Given the description of an element on the screen output the (x, y) to click on. 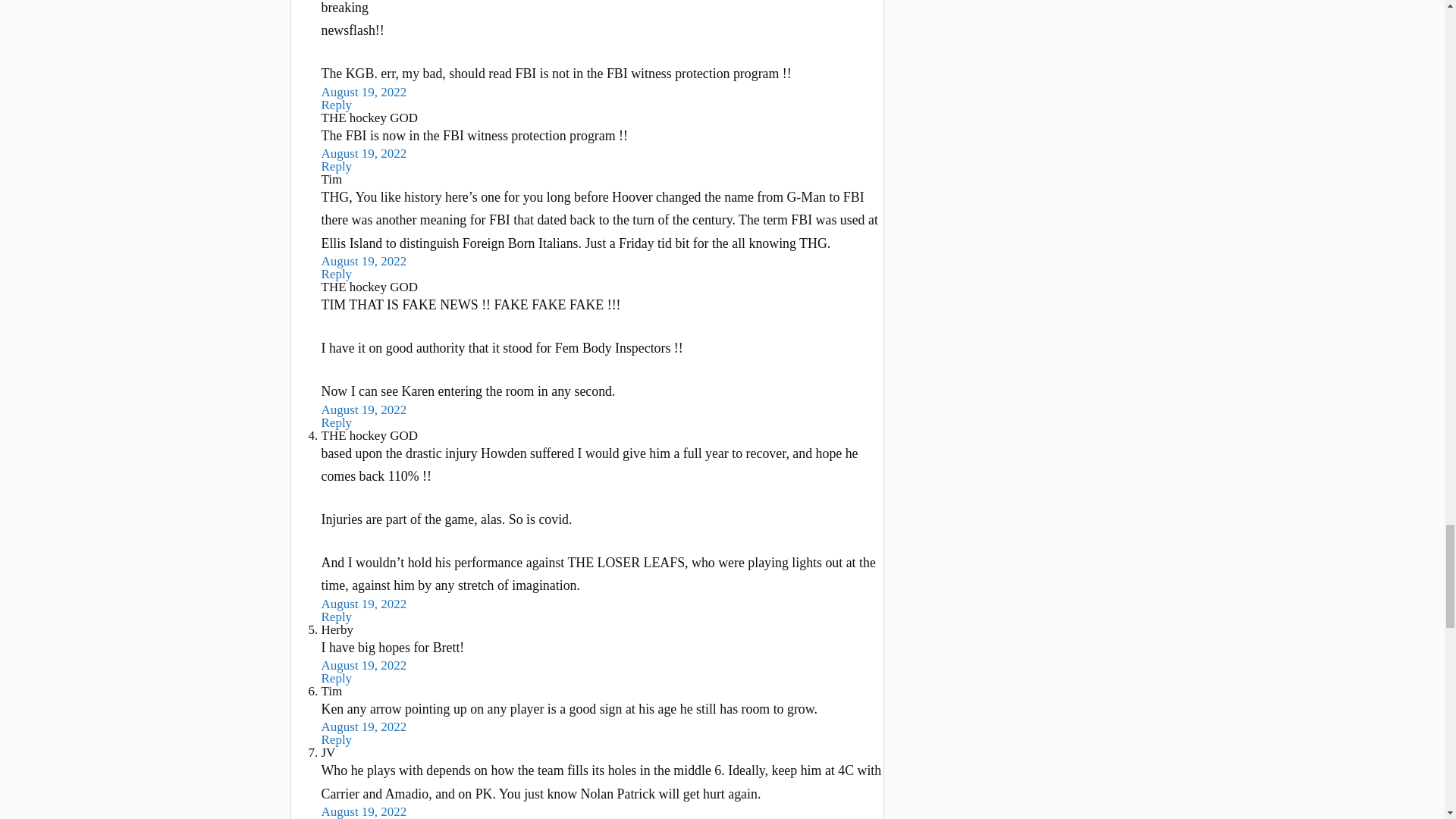
August 19, 2022 at 2:15 PM (364, 409)
August 19, 2022 at 12:31 PM (364, 665)
August 19, 2022 at 1:28 PM (364, 260)
August 19, 2022 at 11:55 AM (364, 603)
August 19, 2022 at 11:54 AM (364, 92)
August 19, 2022 at 1:01 PM (364, 153)
